Given the description of an element on the screen output the (x, y) to click on. 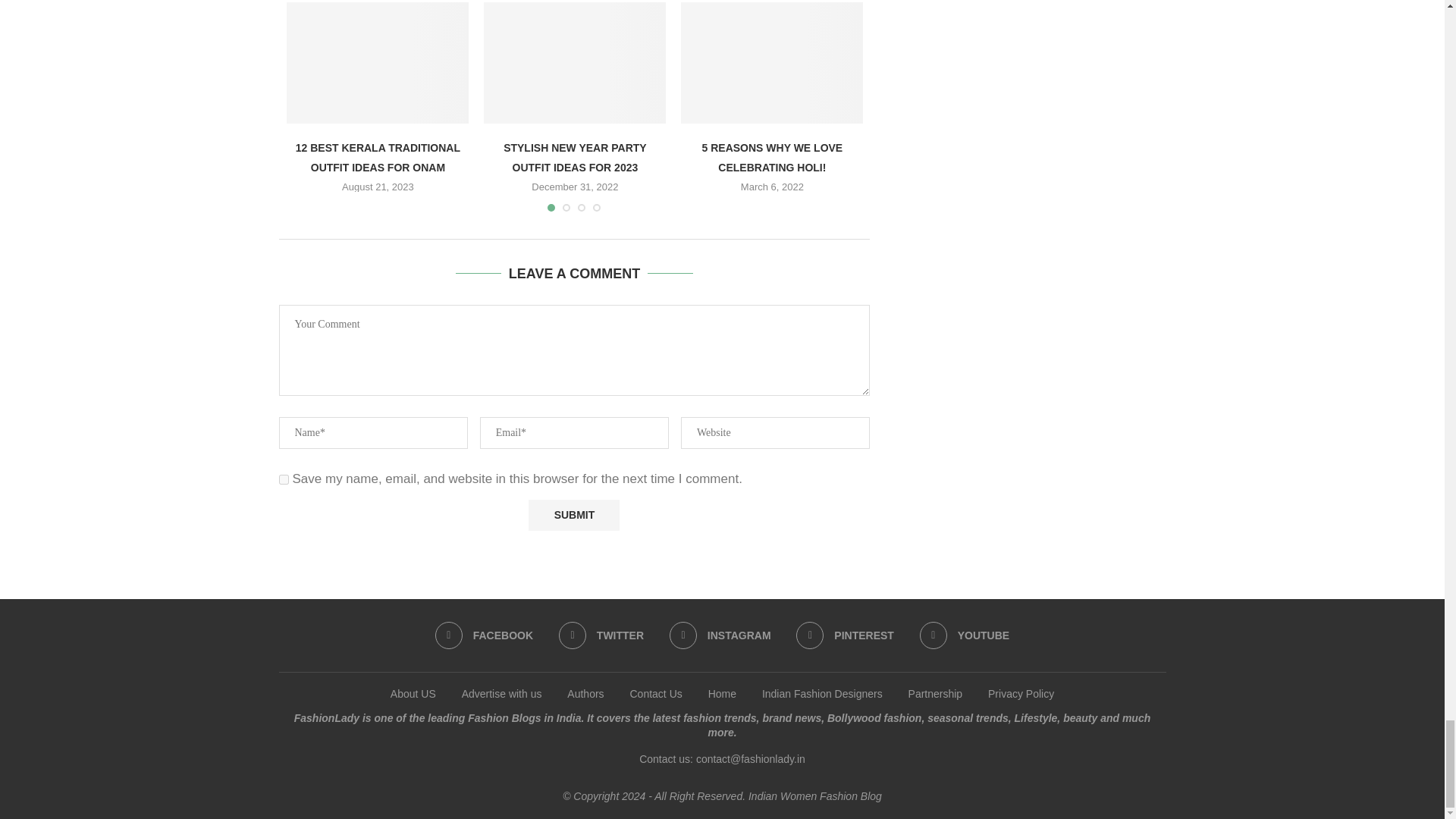
yes (283, 479)
5 Reasons Why We Love Celebrating Holi! (772, 62)
12 BEST KERALA TRADITIONAL OUTFIT IDEAS FOR ONAM (377, 62)
Stylish New Year Party Outfit Ideas For 2023 (574, 62)
Submit (574, 514)
